Given the description of an element on the screen output the (x, y) to click on. 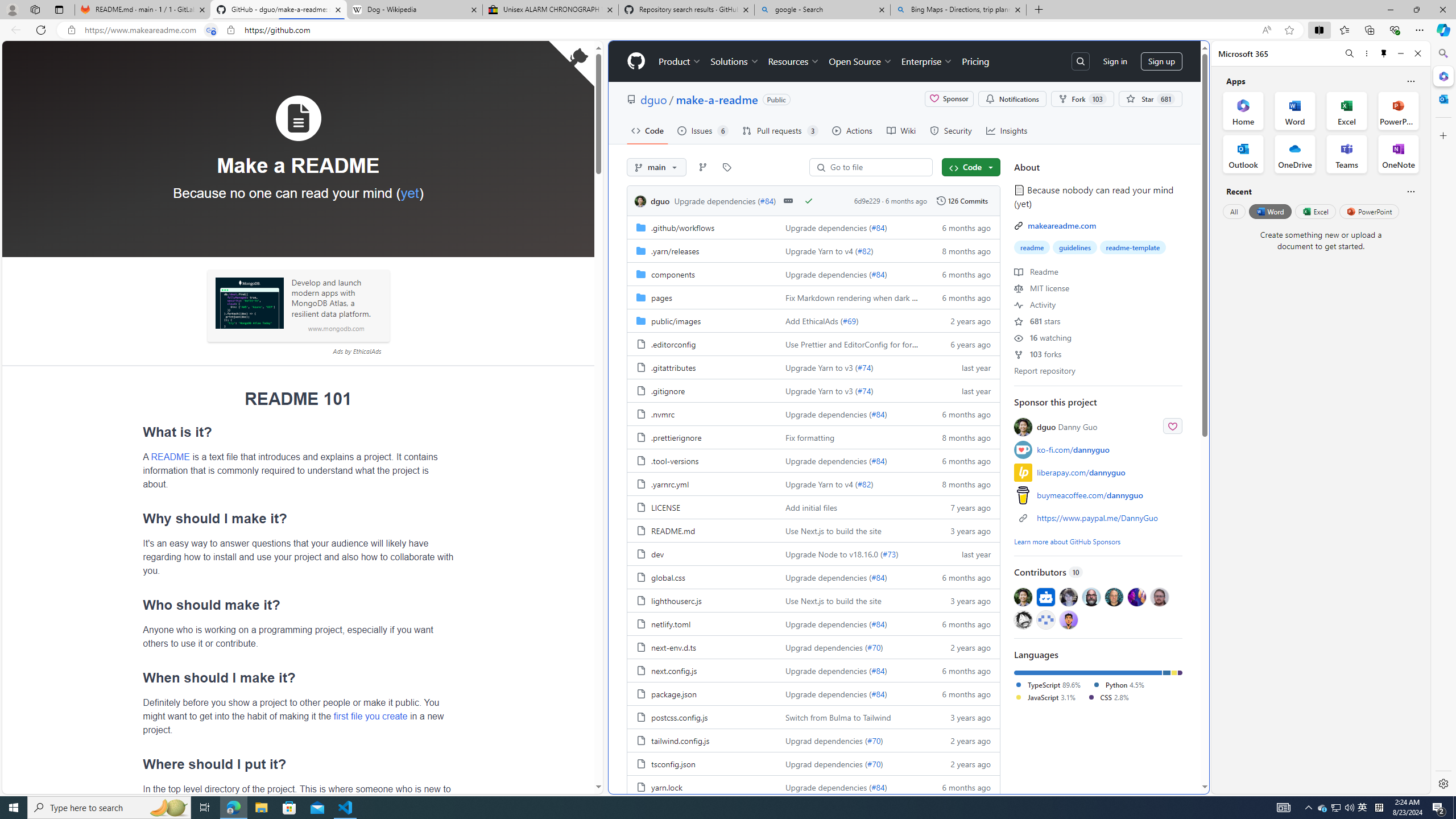
 Readme (1035, 270)
buymeacoffee.com/dannyguo (1097, 494)
@aranciokov (1159, 596)
Fix formatting (849, 436)
All (1233, 210)
components, (Directory) (672, 274)
Is this helpful? (1410, 191)
Code (647, 130)
tailwind.config.js, (File) (701, 739)
Pricing (975, 60)
global.css, (File) (667, 577)
AutomationID: folder-row-0 (813, 227)
AutomationID: folder-row-15 (813, 576)
PowerPoint Office App (1398, 110)
